Given the description of an element on the screen output the (x, y) to click on. 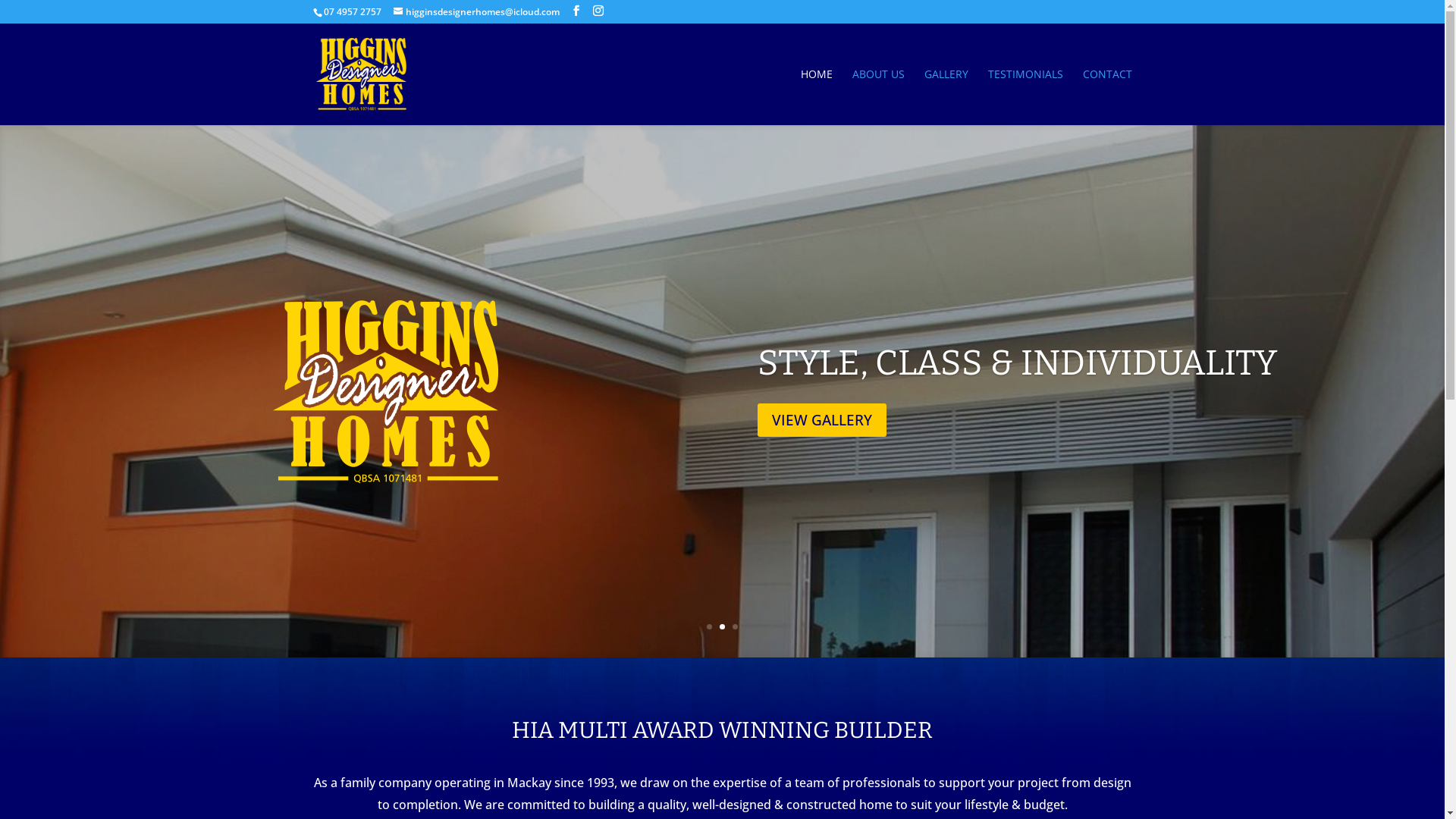
2 Element type: text (721, 626)
TESTIMONIALS Element type: text (1024, 97)
VIEW GALLERY Element type: text (821, 419)
higginsdesignerhomes@icloud.com Element type: text (475, 11)
ABOUT US Element type: text (878, 97)
3 Element type: text (734, 626)
CONTACT Element type: text (1107, 97)
STYLE, CLASS & INDIVIDUALITY Element type: text (1017, 362)
HOME Element type: text (816, 97)
1 Element type: text (709, 626)
GALLERY Element type: text (945, 97)
